Given the description of an element on the screen output the (x, y) to click on. 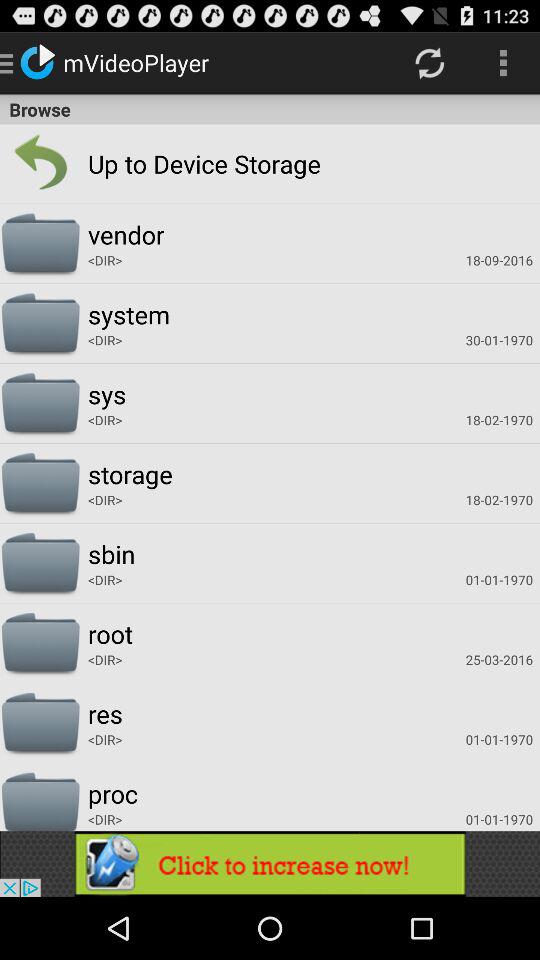
launch icon above browse (503, 62)
